Given the description of an element on the screen output the (x, y) to click on. 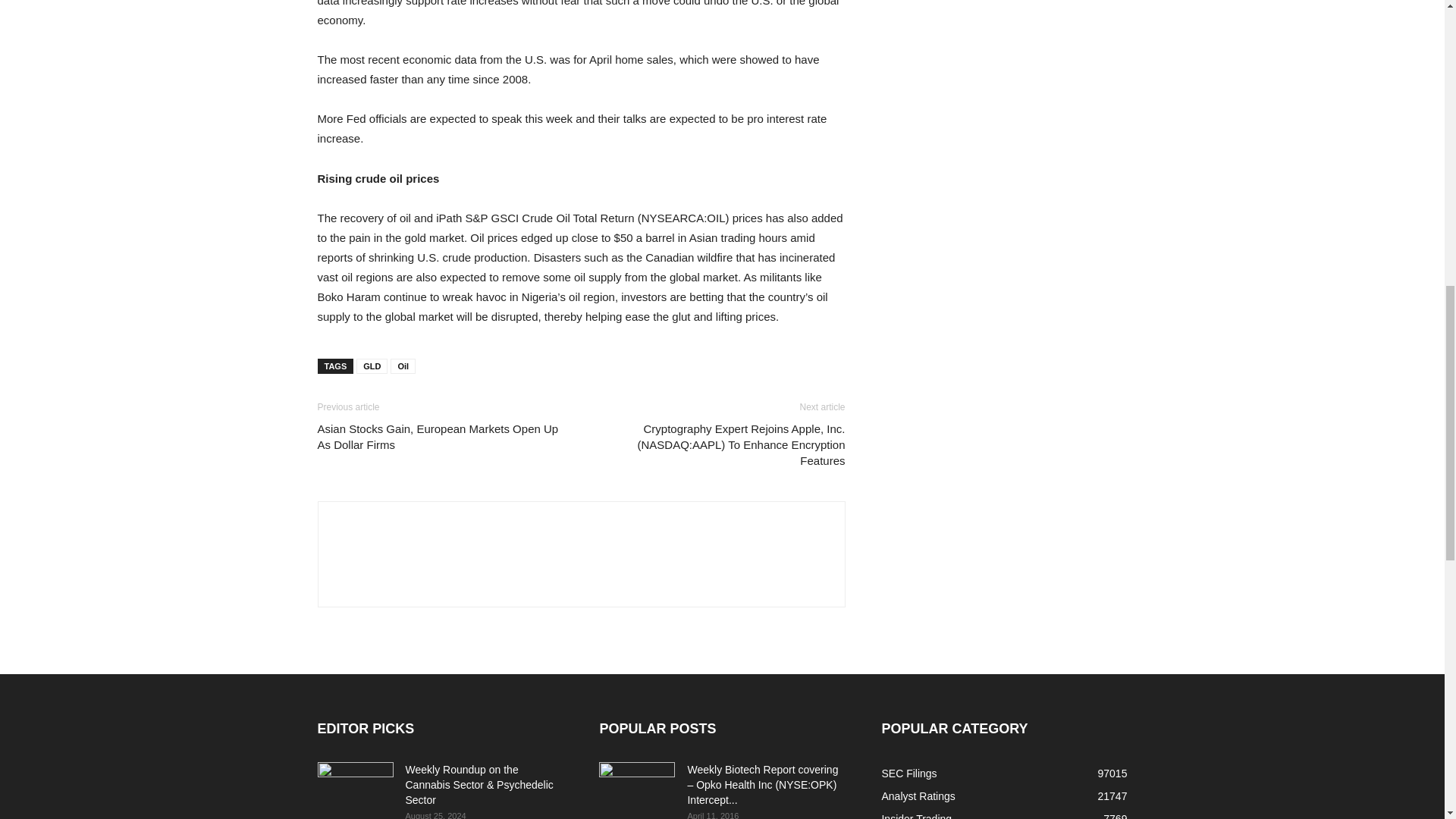
GLD (371, 365)
Oil (402, 365)
Asian Stocks Gain, European Markets Open Up As Dollar Firms (439, 436)
